Given the description of an element on the screen output the (x, y) to click on. 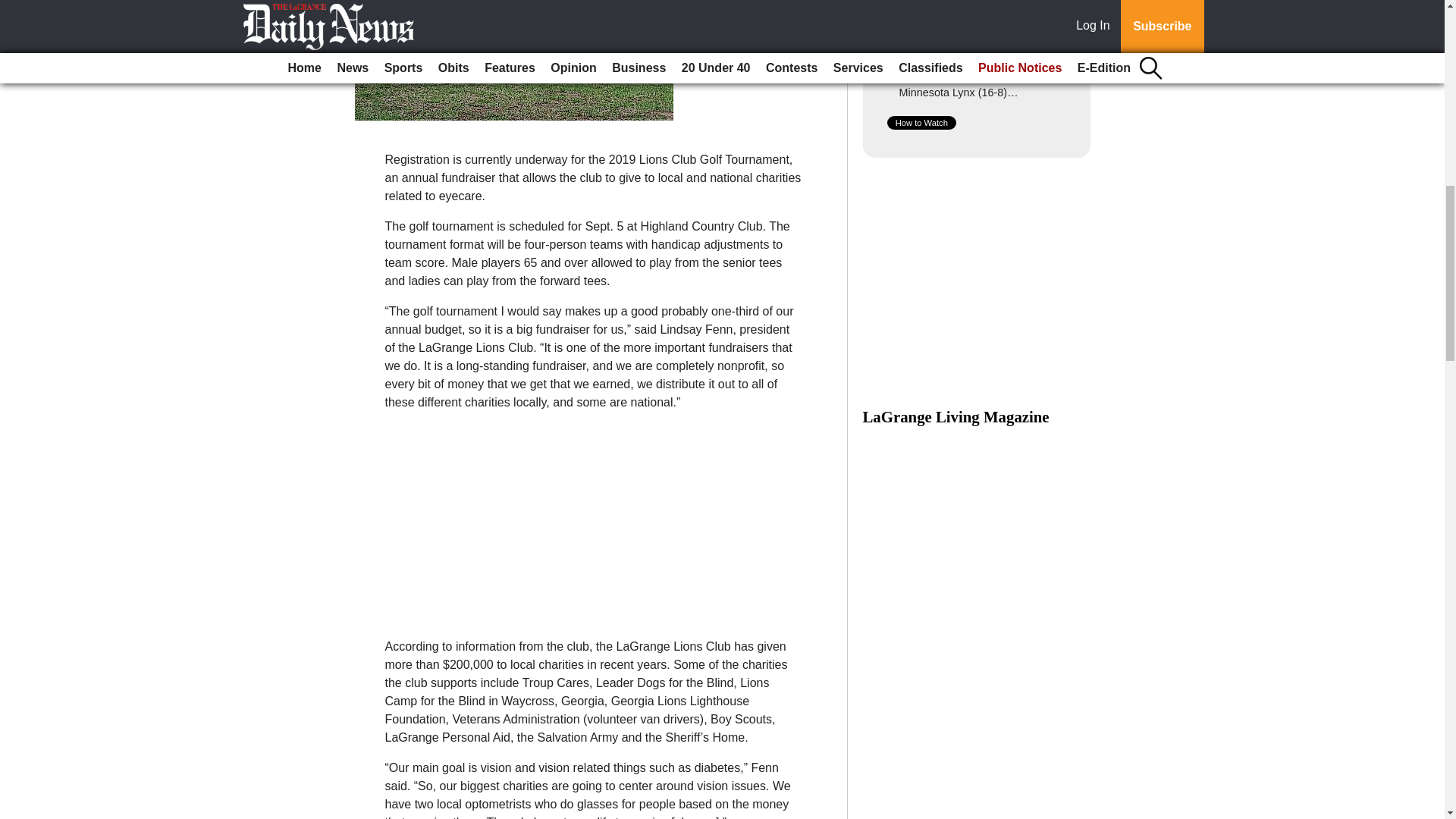
How to Watch (921, 122)
